Given the description of an element on the screen output the (x, y) to click on. 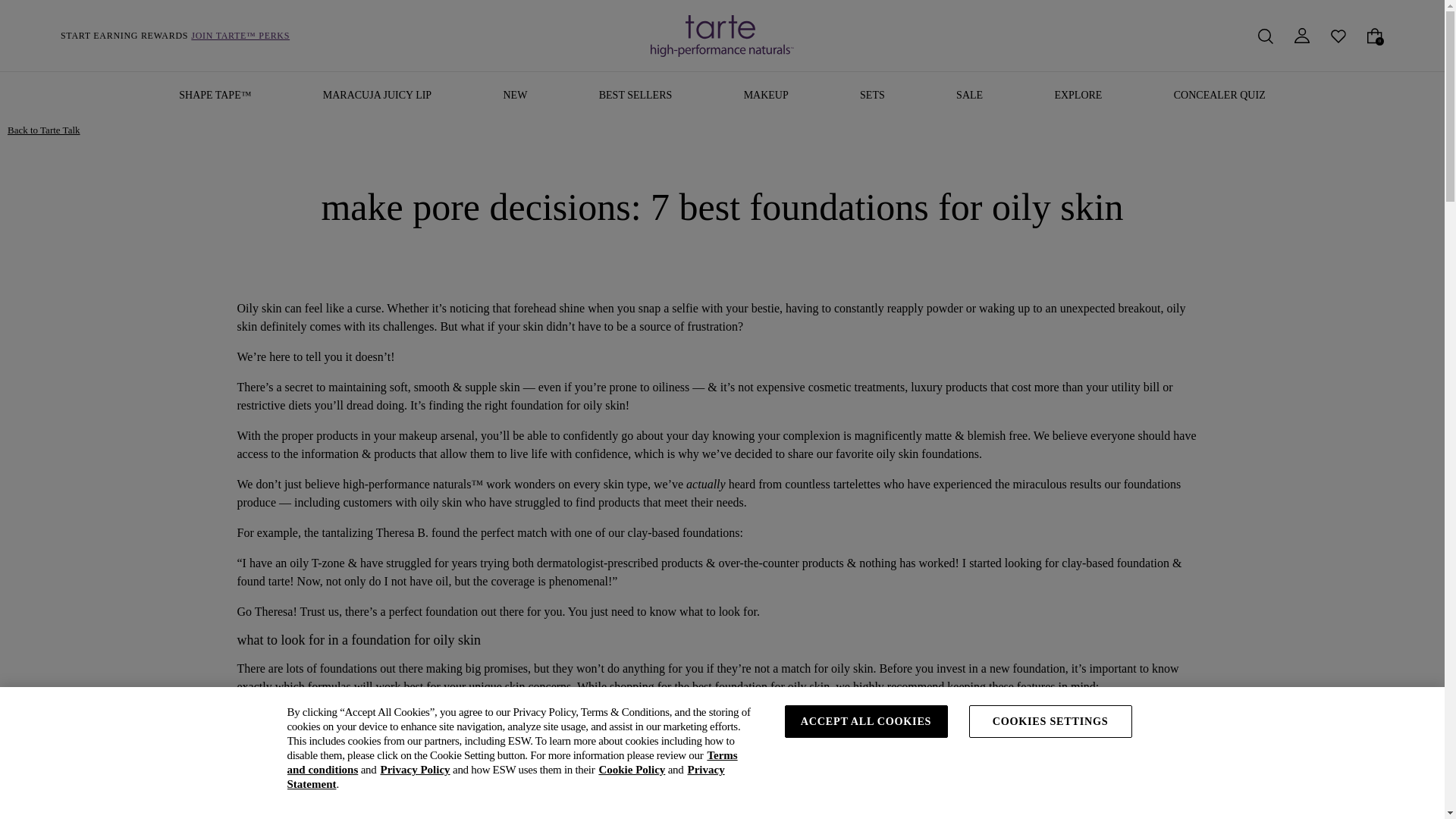
MAKEUP (766, 96)
0 (1374, 33)
NEW (514, 96)
BEST SELLERS (635, 96)
Go back to main blog (43, 129)
MARACUJA JUICY LIP (376, 96)
tarte cosmetics Tarte (721, 35)
Cart 0 Items (1374, 33)
